Given the description of an element on the screen output the (x, y) to click on. 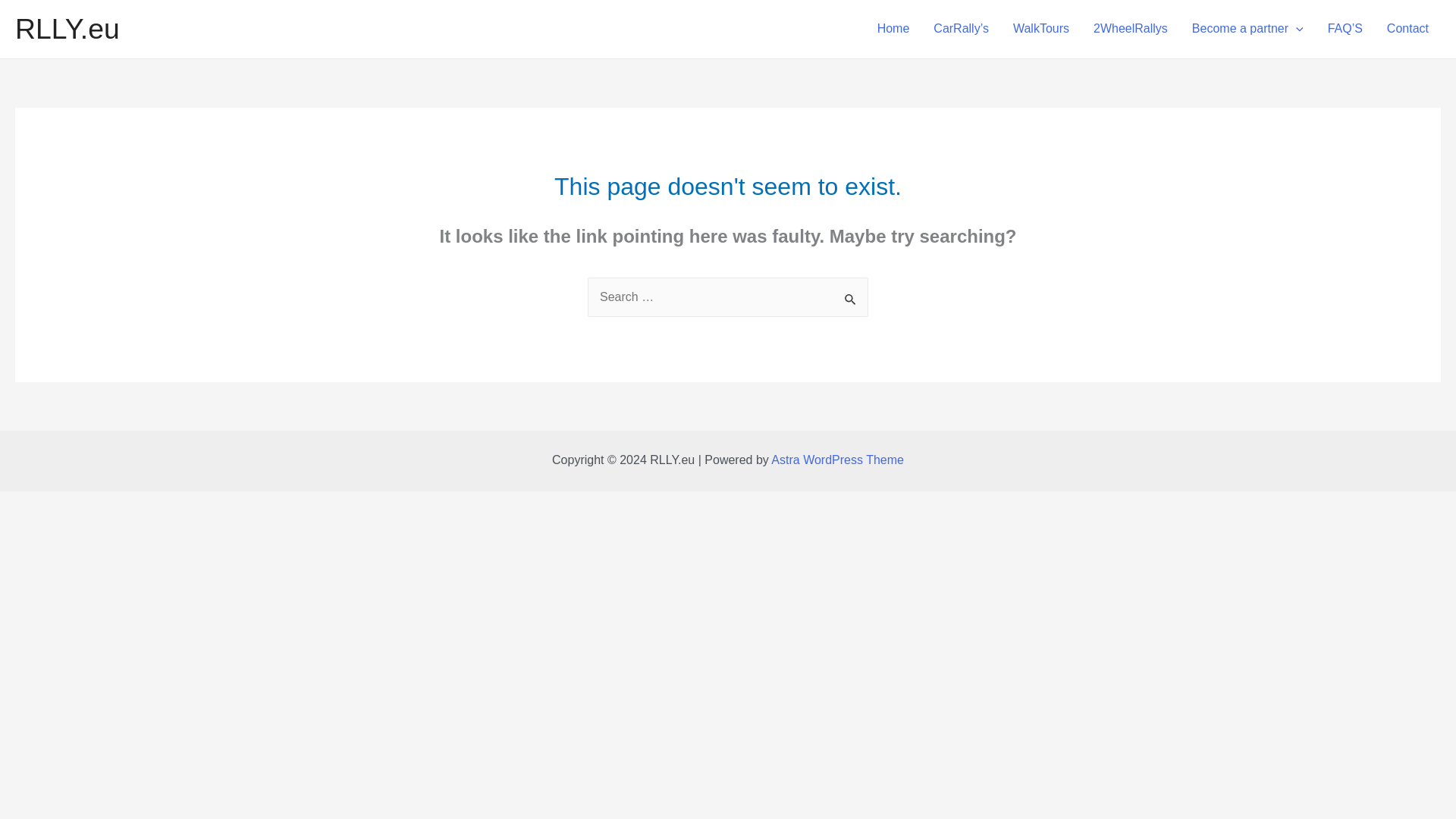
Astra WordPress Theme (837, 459)
Home (892, 28)
Contact (1407, 28)
Become a partner (1247, 28)
WalkTours (1041, 28)
2WheelRallys (1130, 28)
RLLY.eu (66, 29)
